Given the description of an element on the screen output the (x, y) to click on. 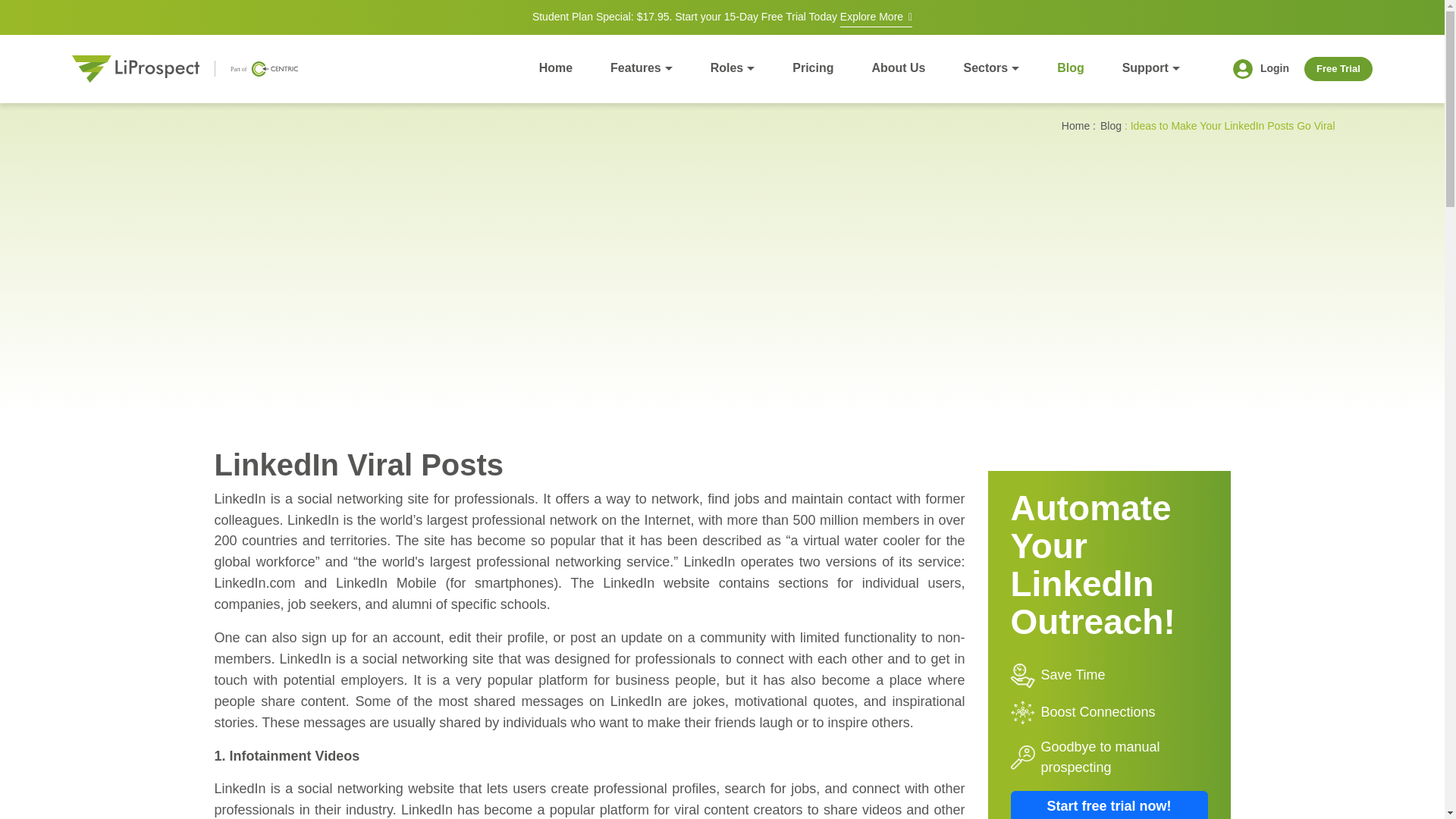
Home (555, 67)
Blog (1070, 67)
Roles (732, 67)
Support (1150, 67)
Pricing (812, 67)
Features (641, 67)
Sectors (990, 67)
Explore More (876, 18)
About Us (897, 67)
